Given the description of an element on the screen output the (x, y) to click on. 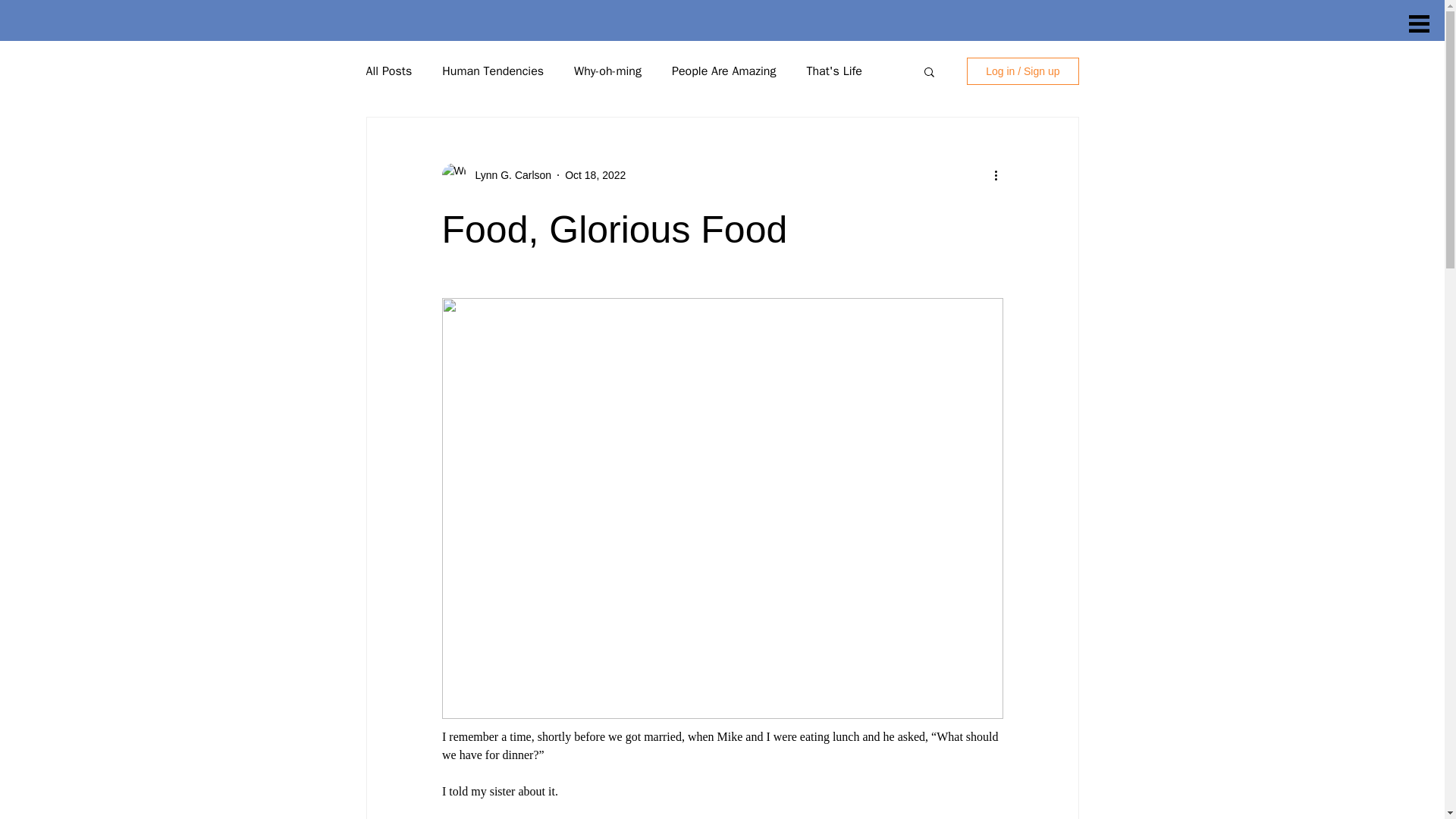
People Are Amazing (723, 71)
That's Life (833, 71)
Why-oh-ming (607, 71)
All Posts (388, 71)
Oct 18, 2022 (595, 174)
Lynn G. Carlson (496, 174)
Lynn G. Carlson (508, 174)
Human Tendencies (492, 71)
